Given the description of an element on the screen output the (x, y) to click on. 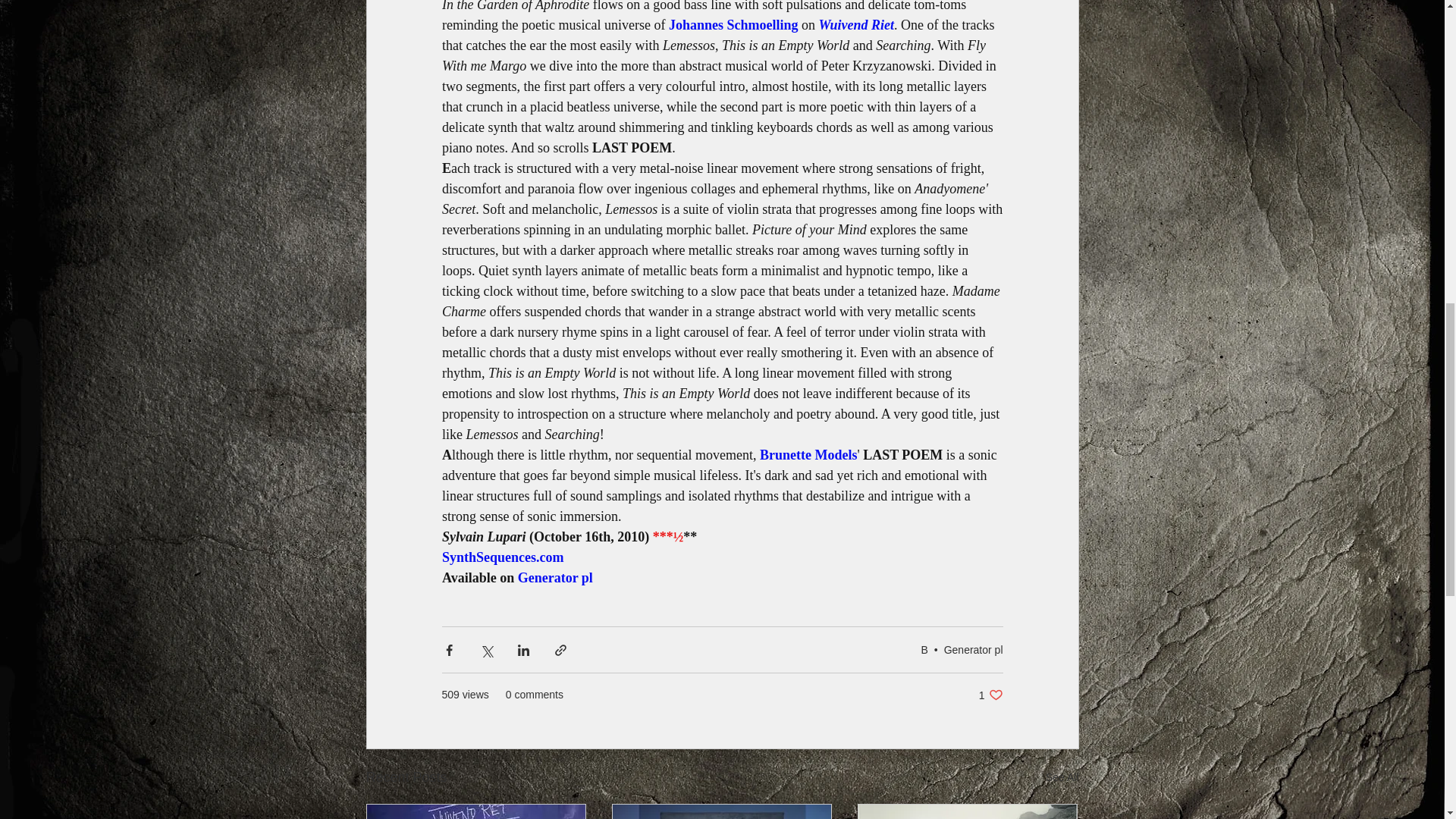
Johannes Schmoelling (732, 24)
SynthSequences.com (990, 694)
See All (502, 557)
Wuivend Riet (1061, 777)
Brunette Models (855, 24)
Generator pl (807, 454)
Generator pl (554, 577)
